Given the description of an element on the screen output the (x, y) to click on. 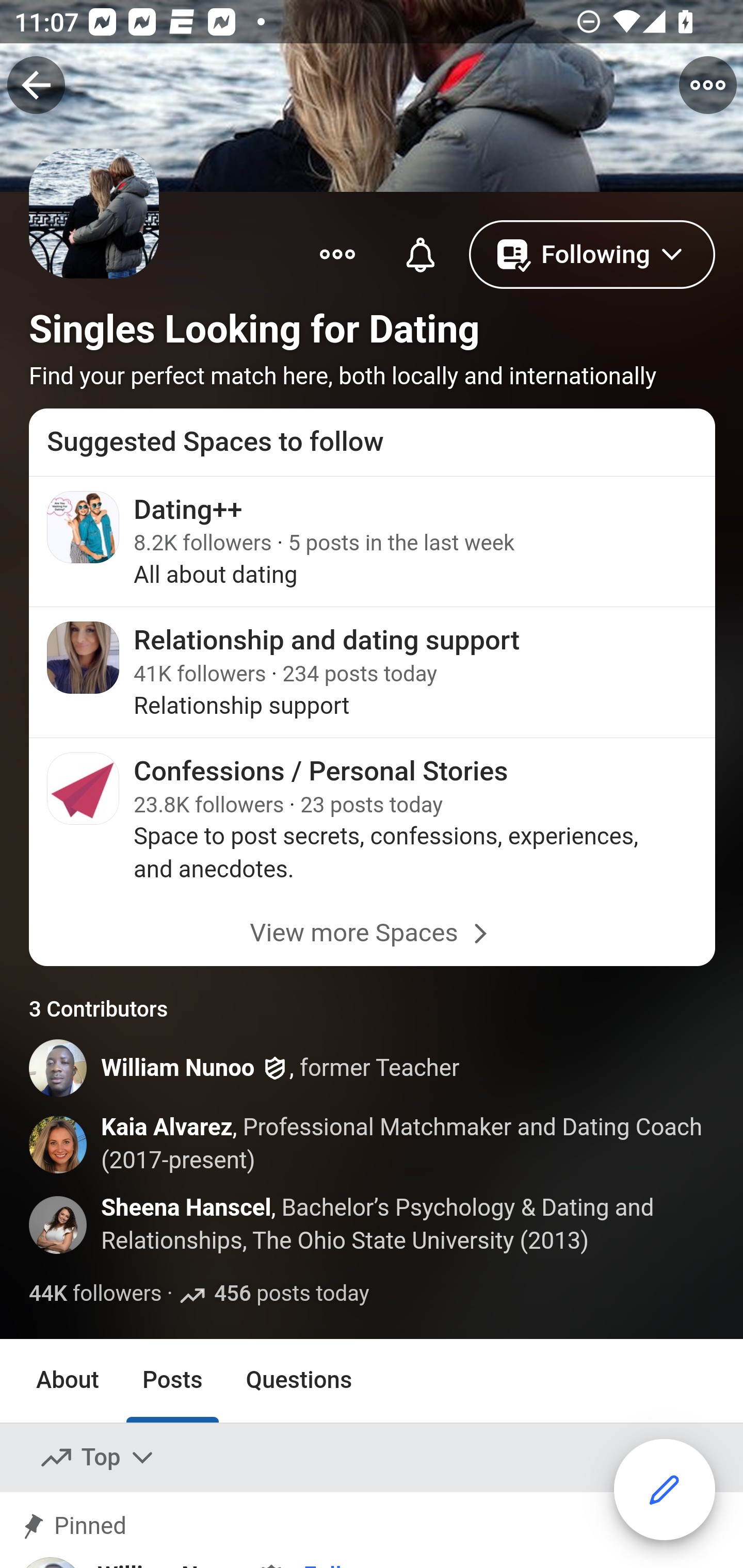
More (337, 252)
Personalized (420, 252)
Following (591, 252)
Singles Looking for Dating (254, 329)
View more Spaces (372, 932)
Profile photo for William Nunoo (58, 1067)
William Nunoo (178, 1068)
Kaia Alvarez (166, 1128)
Profile photo for Kaia Alvarez (58, 1145)
Sheena Hanscel (186, 1208)
Profile photo for Sheena Hanscel (58, 1224)
44K followers (95, 1293)
About (68, 1380)
Posts (171, 1380)
Questions (299, 1380)
Top (97, 1457)
